Given the description of an element on the screen output the (x, y) to click on. 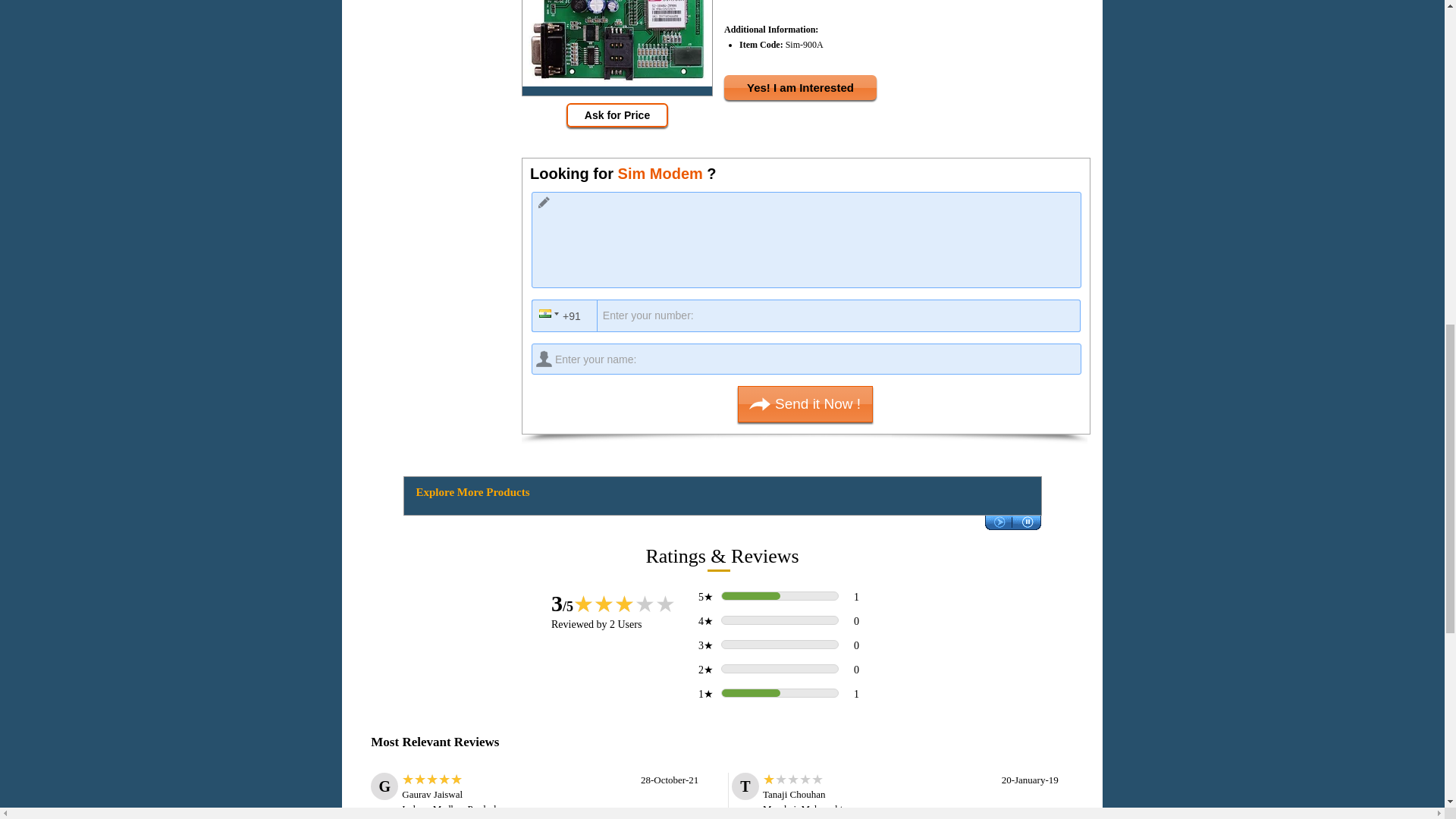
Send it Now ! (805, 403)
Enter your number: (810, 315)
Enter your name: (806, 358)
Send it Now ! (805, 403)
